Given the description of an element on the screen output the (x, y) to click on. 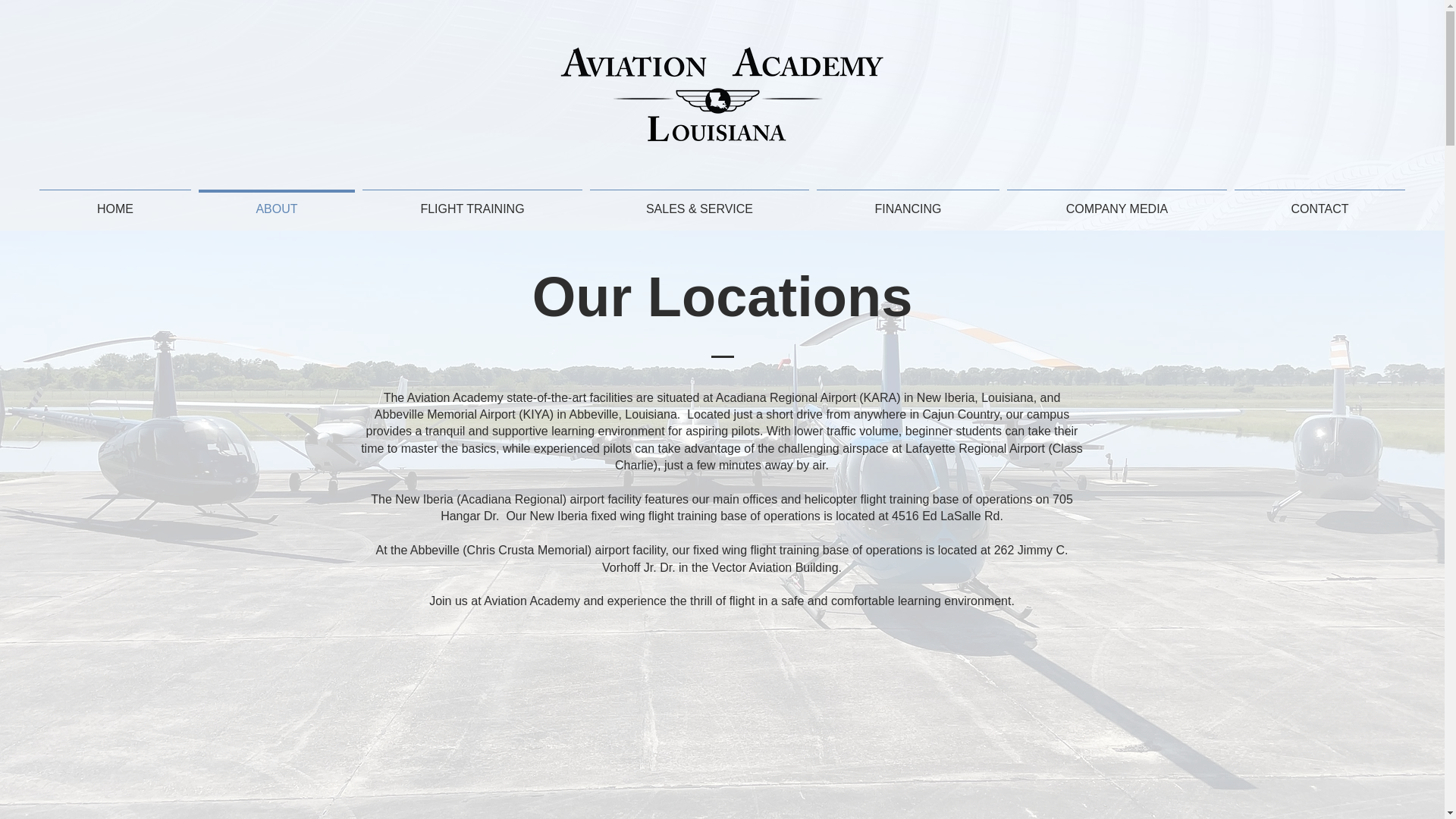
COMPANY MEDIA (1116, 202)
HOME (114, 202)
FINANCING (907, 202)
ABOUT (276, 202)
CONTACT (1319, 202)
Aviation Academy Plain LogoBlue.png (722, 94)
FLIGHT TRAINING (472, 202)
